Given the description of an element on the screen output the (x, y) to click on. 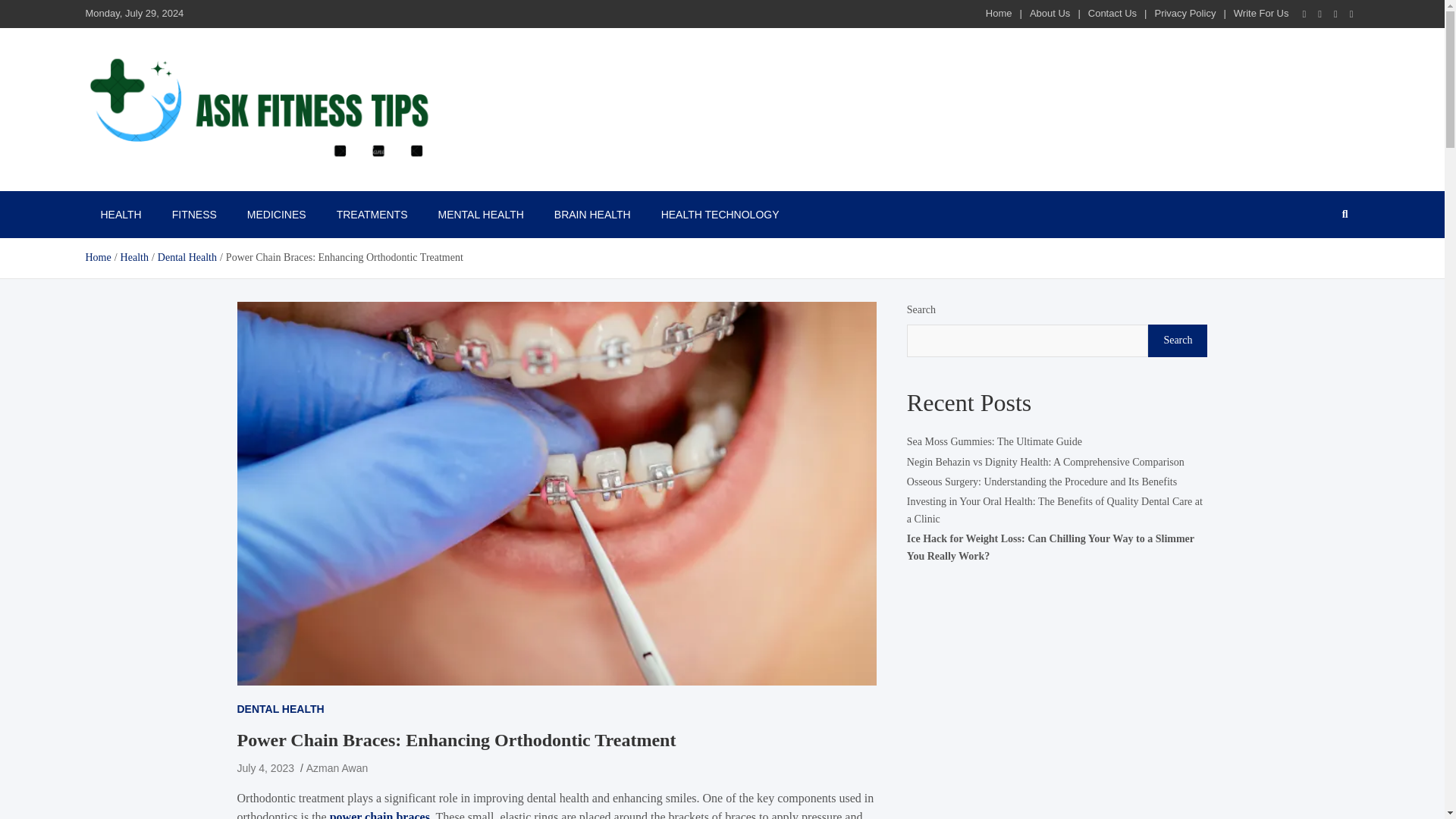
power chain braces (379, 814)
HEALTH TECHNOLOGY (720, 214)
Azman Awan (336, 767)
ASK FITNESS TIPS (192, 183)
MEDICINES (276, 214)
MENTAL HEALTH (480, 214)
BRAIN HEALTH (592, 214)
About Us (1049, 12)
FITNESS (194, 214)
HEALTH (119, 214)
DENTAL HEALTH (279, 709)
Contact Us (1112, 12)
Write For Us (1260, 12)
TREATMENTS (372, 214)
Privacy Policy (1184, 12)
